Given the description of an element on the screen output the (x, y) to click on. 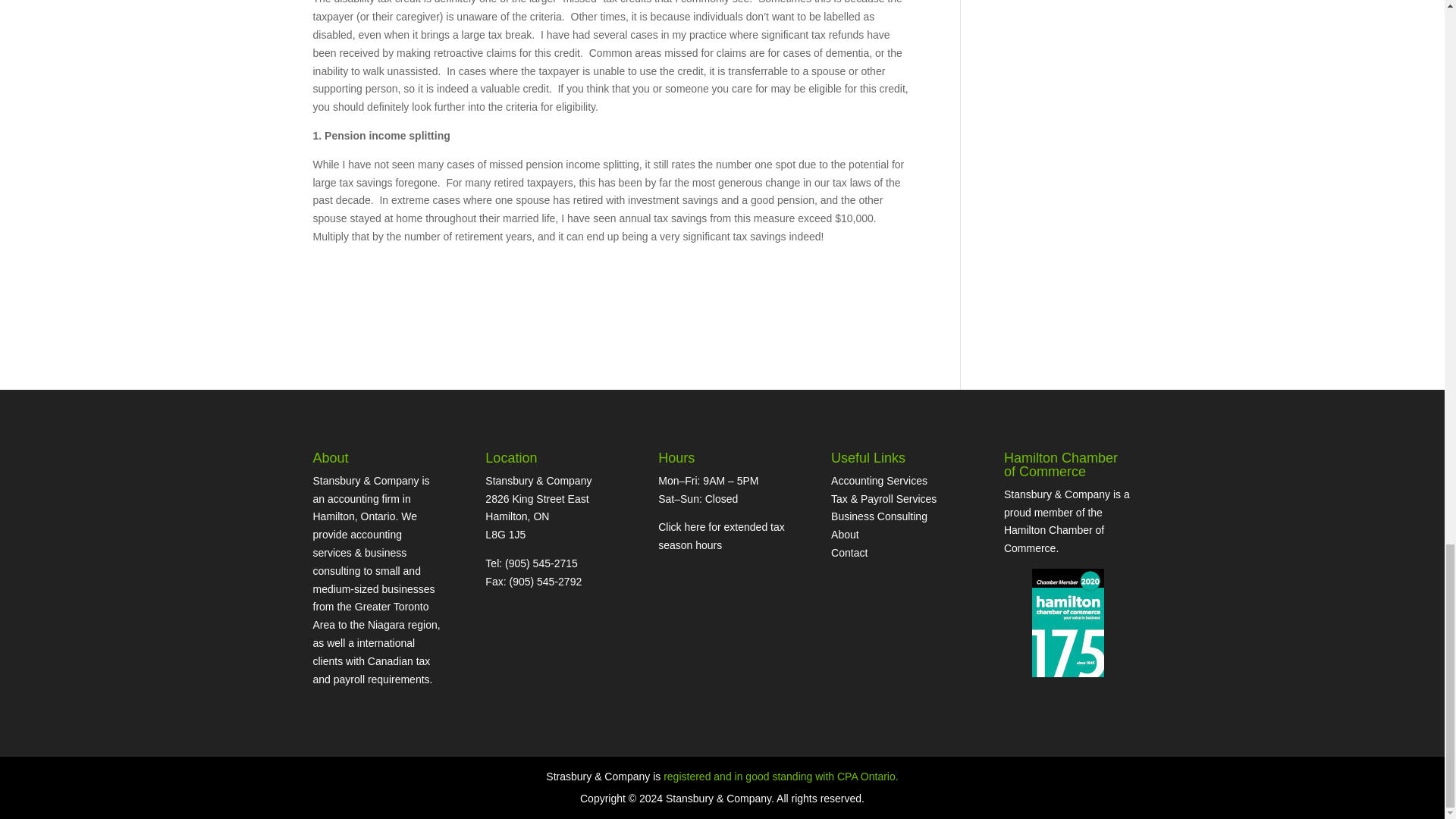
Click here for extended tax season hours (721, 535)
Accounting Services (879, 480)
